Given the description of an element on the screen output the (x, y) to click on. 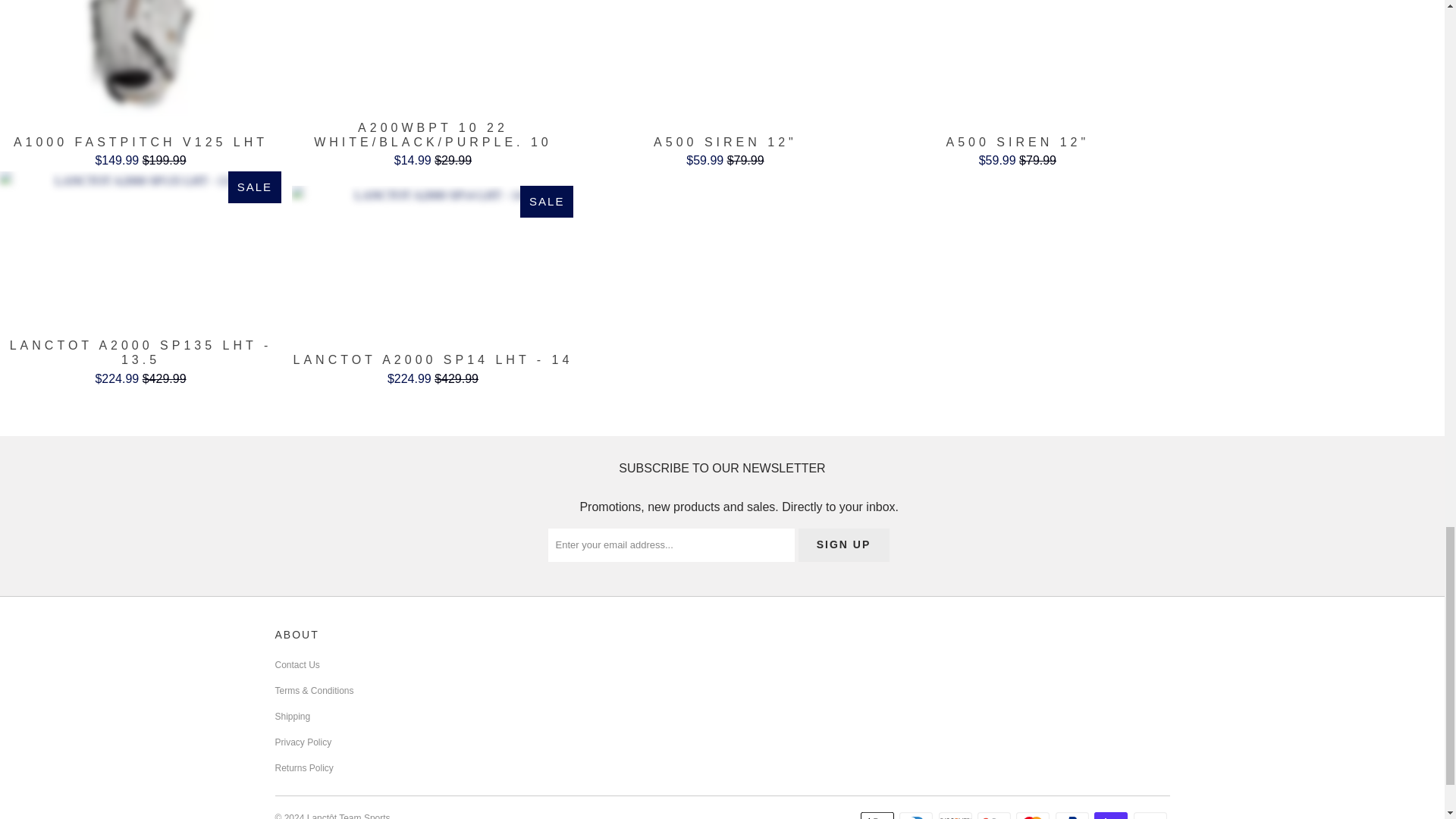
PayPal (1073, 815)
Apple Pay (878, 815)
Shop Pay (1112, 815)
Discover (957, 815)
Visa (1150, 815)
Diners Club (917, 815)
Google Pay (994, 815)
Sign Up (842, 544)
Mastercard (1034, 815)
